Given the description of an element on the screen output the (x, y) to click on. 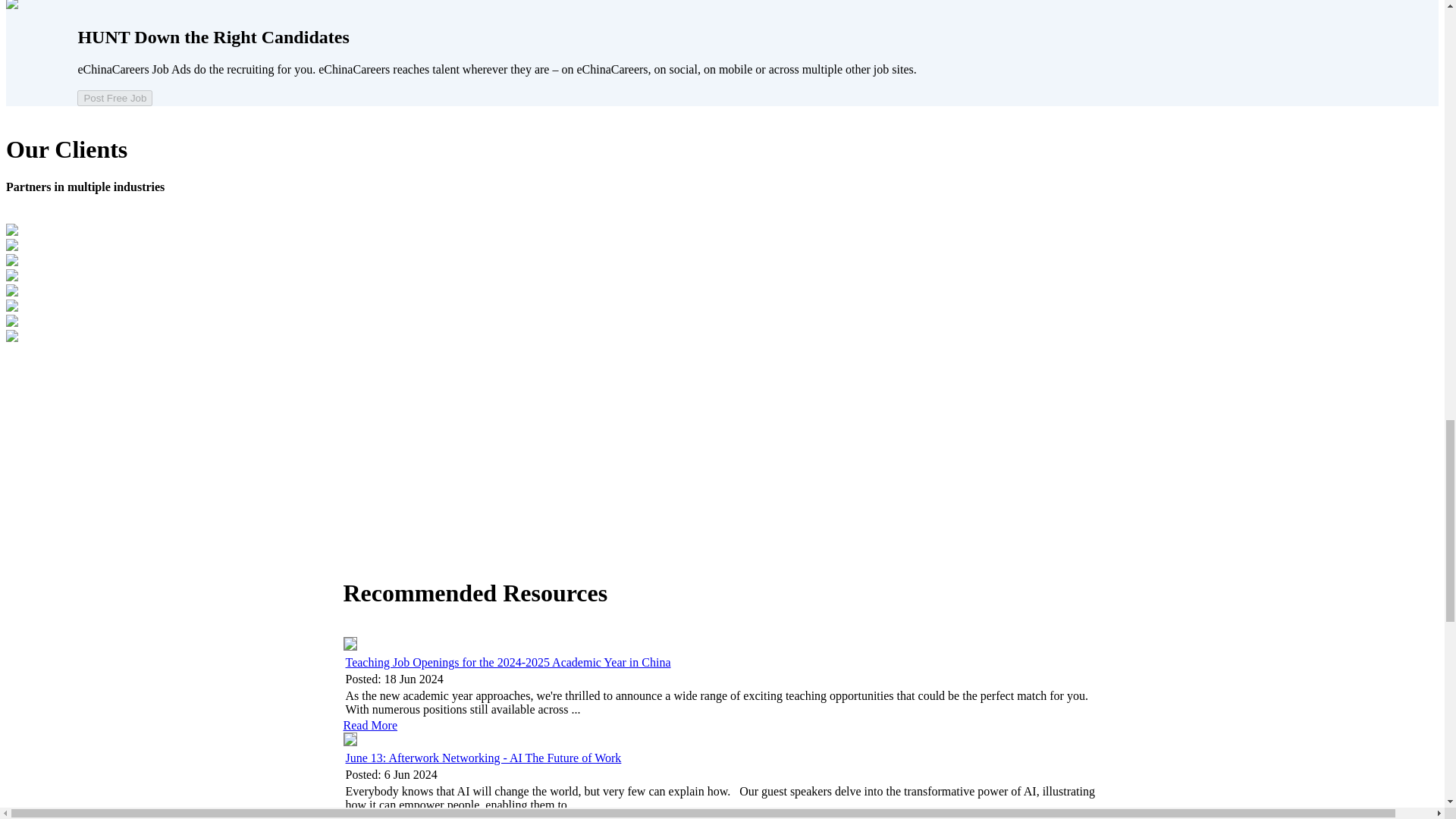
Post Free Job (114, 98)
Read More (369, 725)
June 13: Afterwork Networking - AI The Future of Work (483, 757)
Read More (369, 816)
